Given the description of an element on the screen output the (x, y) to click on. 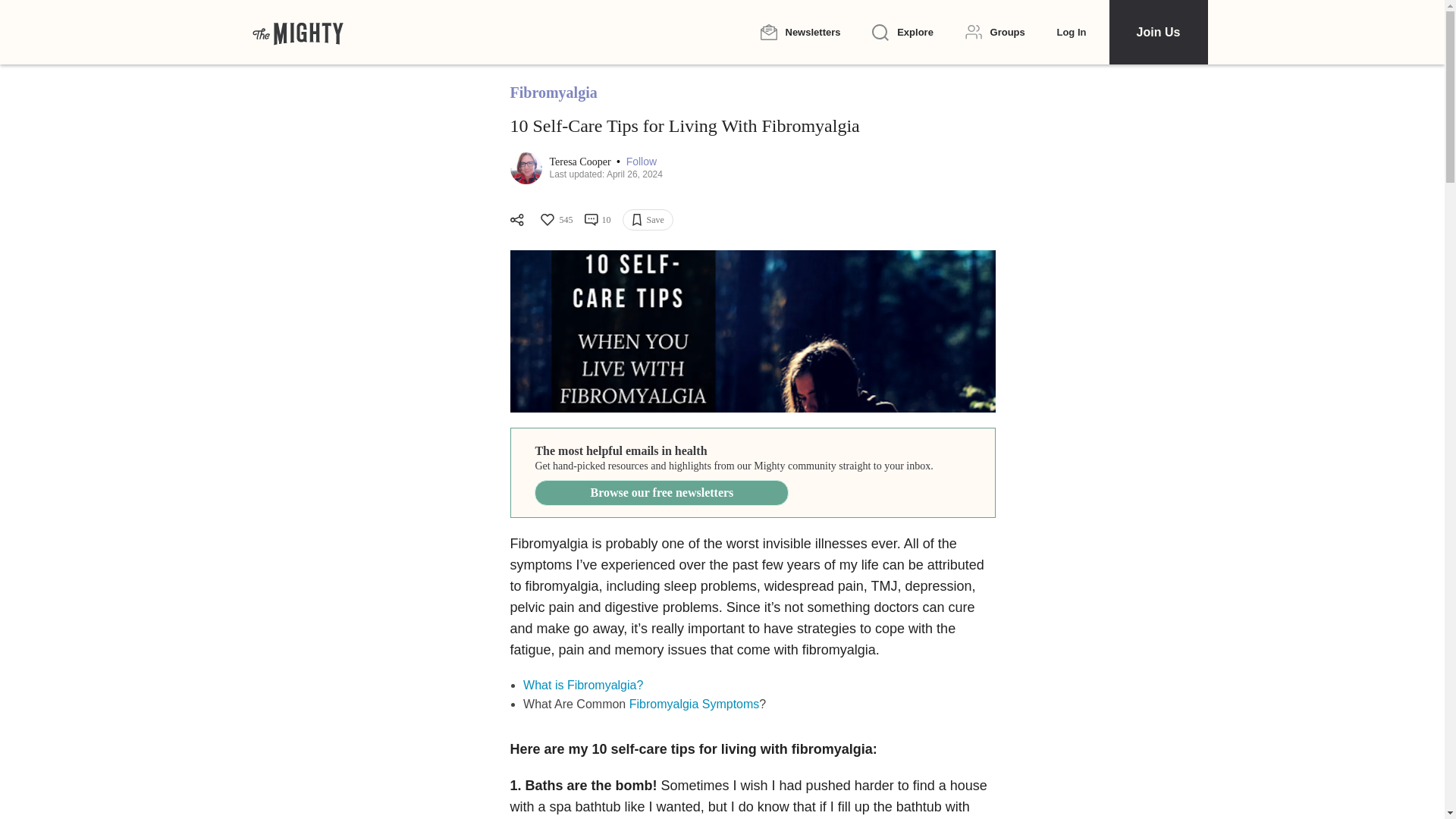
Teresa Cooper (580, 161)
Self-Care Advice for Treating and Living With Fibromyalgia (751, 331)
Fibromyalgia Symptoms (694, 703)
Save (646, 219)
Fibromyalgia (552, 92)
Groups (995, 32)
Newsletters (800, 31)
10 (596, 219)
What is Fibromyalgia? (582, 684)
545 (555, 219)
